Given the description of an element on the screen output the (x, y) to click on. 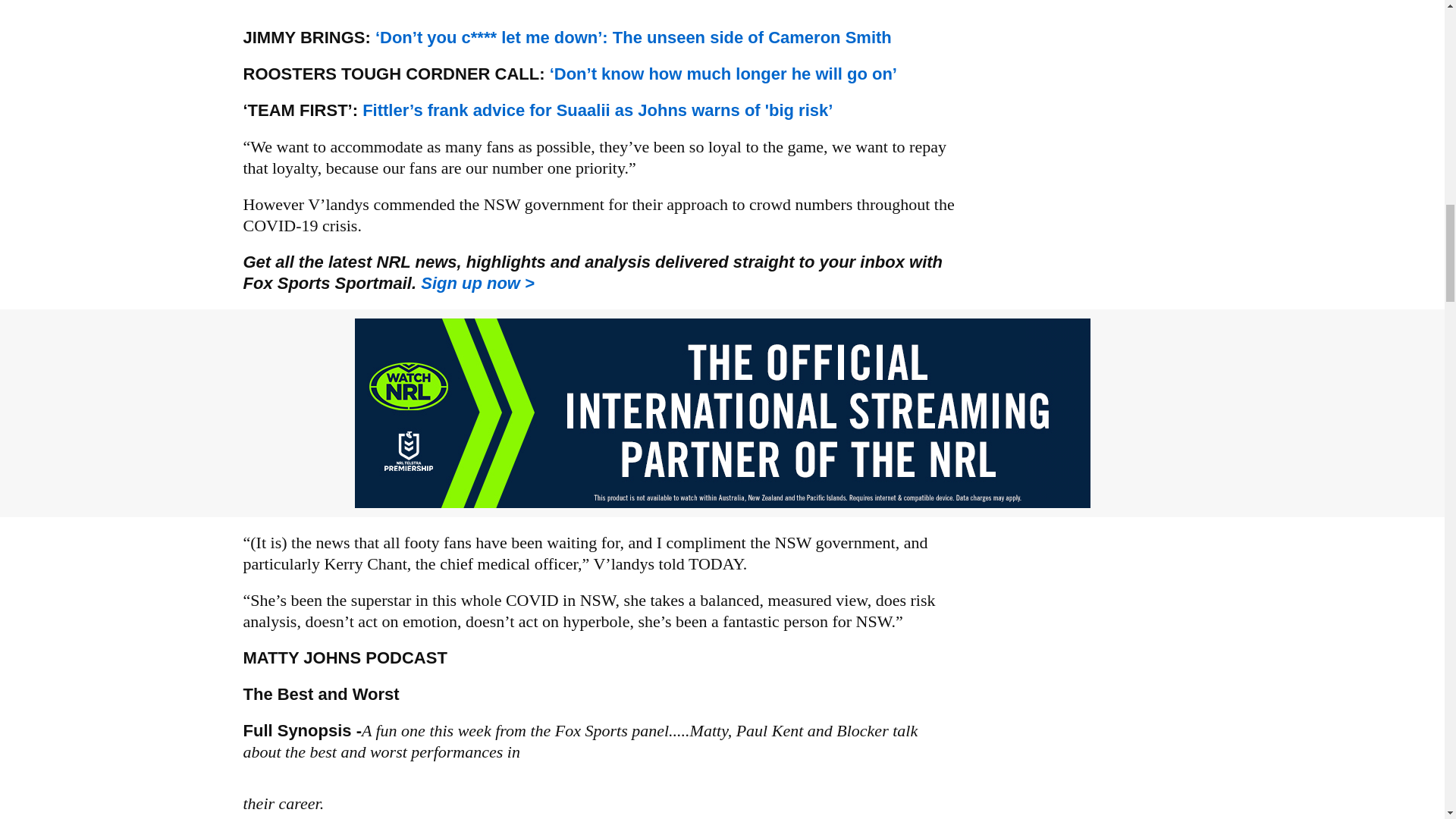
www.foxsports.com.au (477, 282)
